Given the description of an element on the screen output the (x, y) to click on. 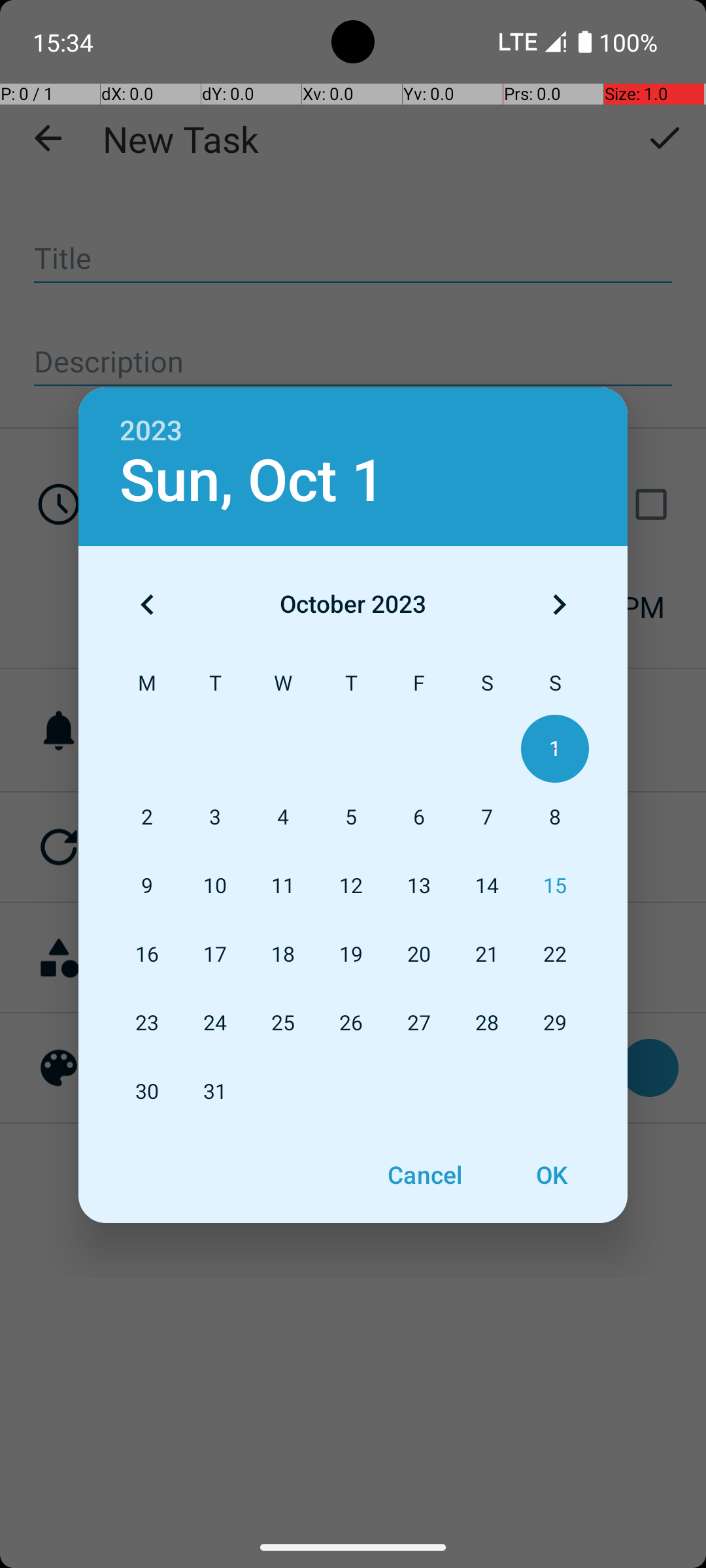
Sun, Oct 1 Element type: android.widget.TextView (252, 480)
